Given the description of an element on the screen output the (x, y) to click on. 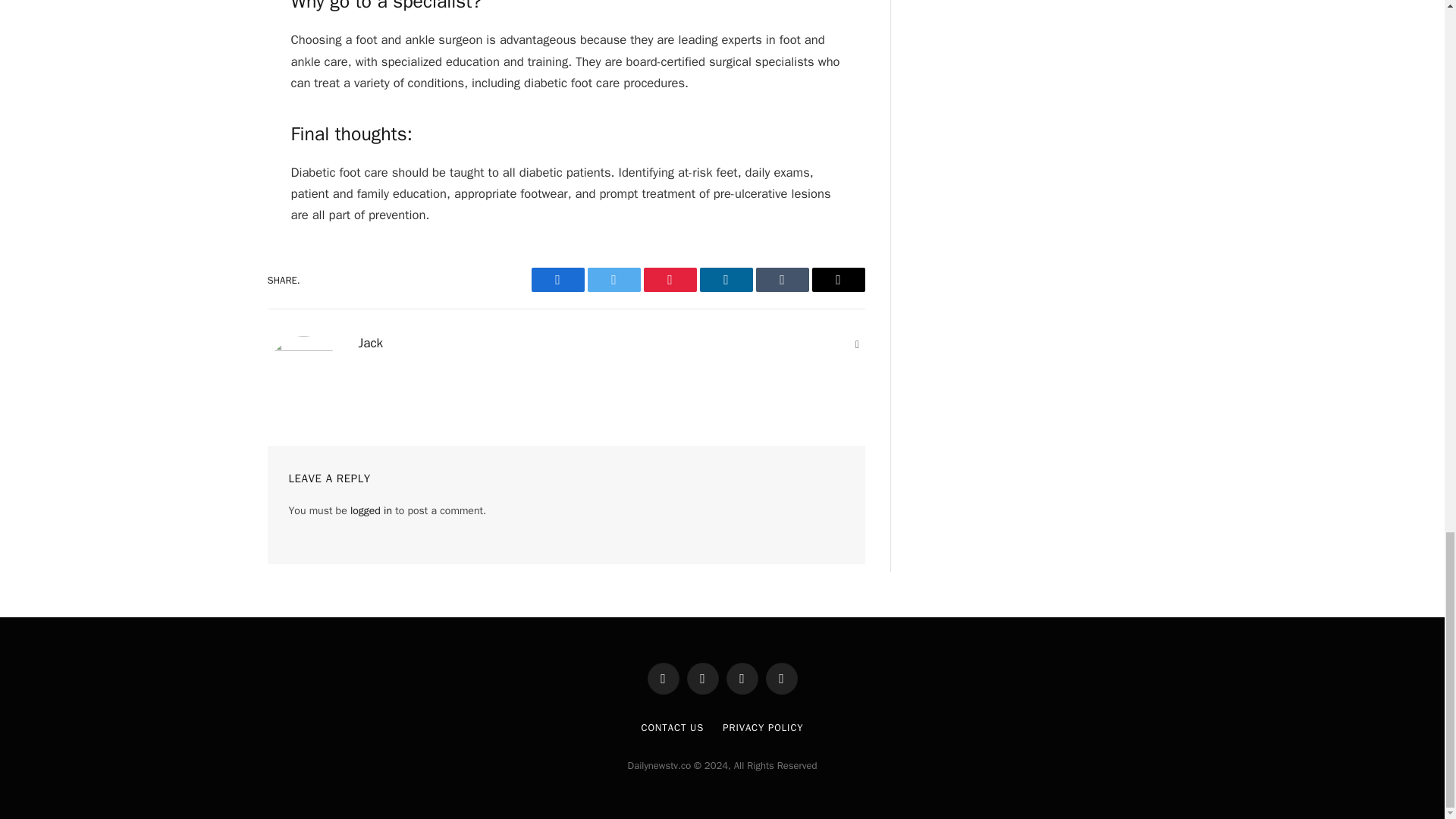
LinkedIn (725, 279)
Twitter (613, 279)
Pinterest (669, 279)
Facebook (557, 279)
